Given the description of an element on the screen output the (x, y) to click on. 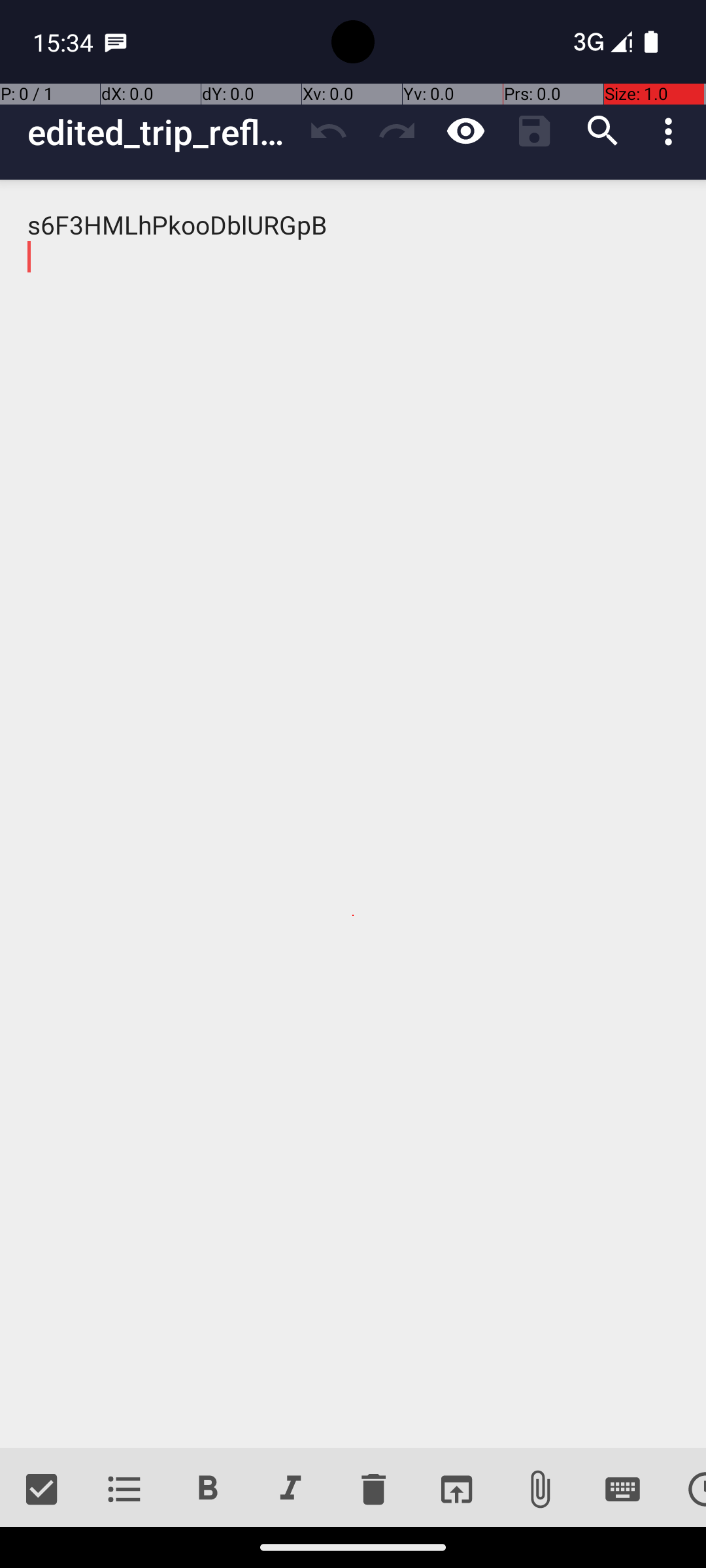
edited_trip_reflections_recent Element type: android.widget.TextView (160, 131)
s6F3HMLhPkooDblURGpB
 Element type: android.widget.EditText (353, 813)
